Given the description of an element on the screen output the (x, y) to click on. 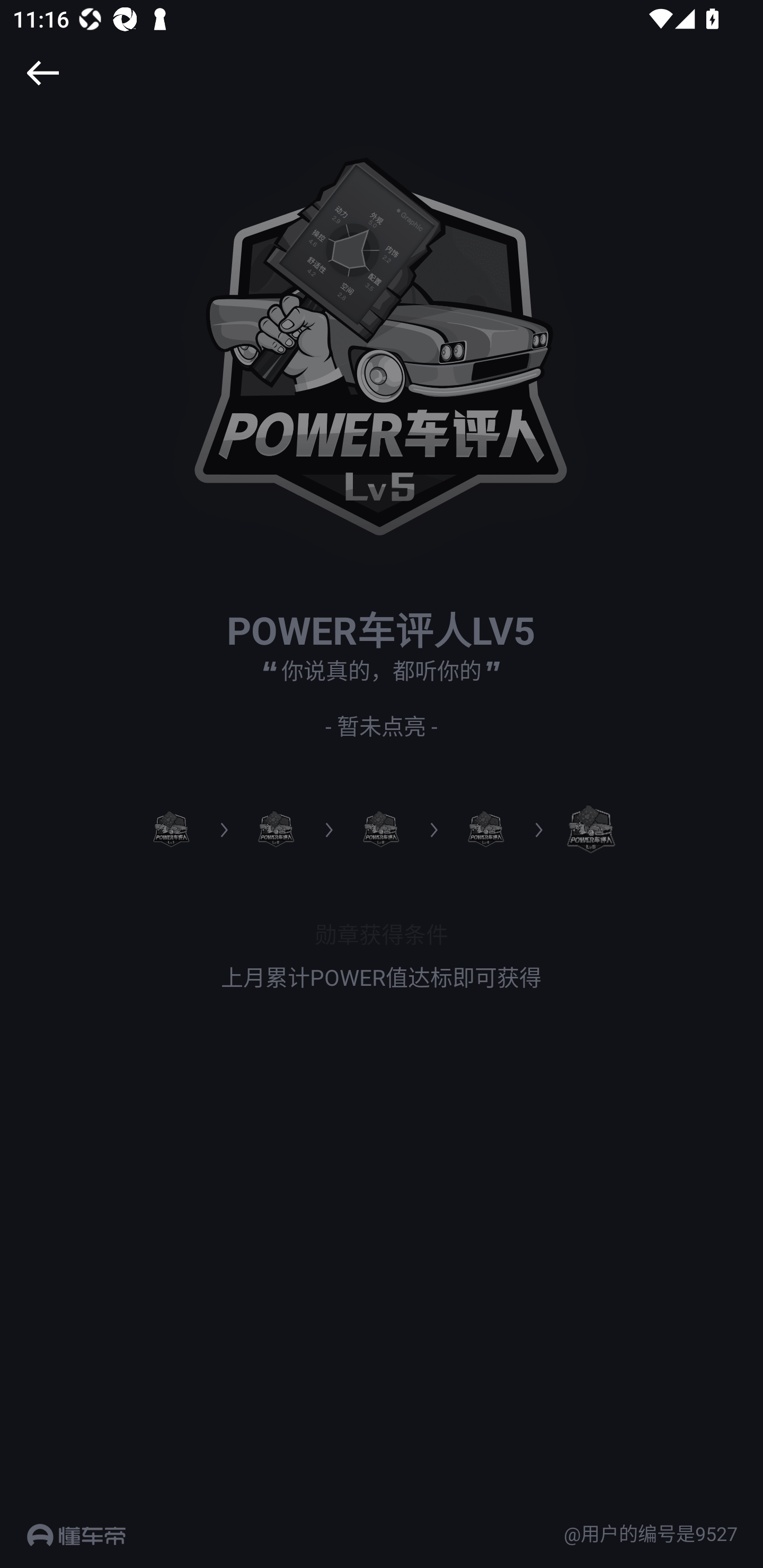
 (42, 72)
勋章获得条件 (381, 933)
上月累计POWER值达标即可获得 (381, 977)
